Given the description of an element on the screen output the (x, y) to click on. 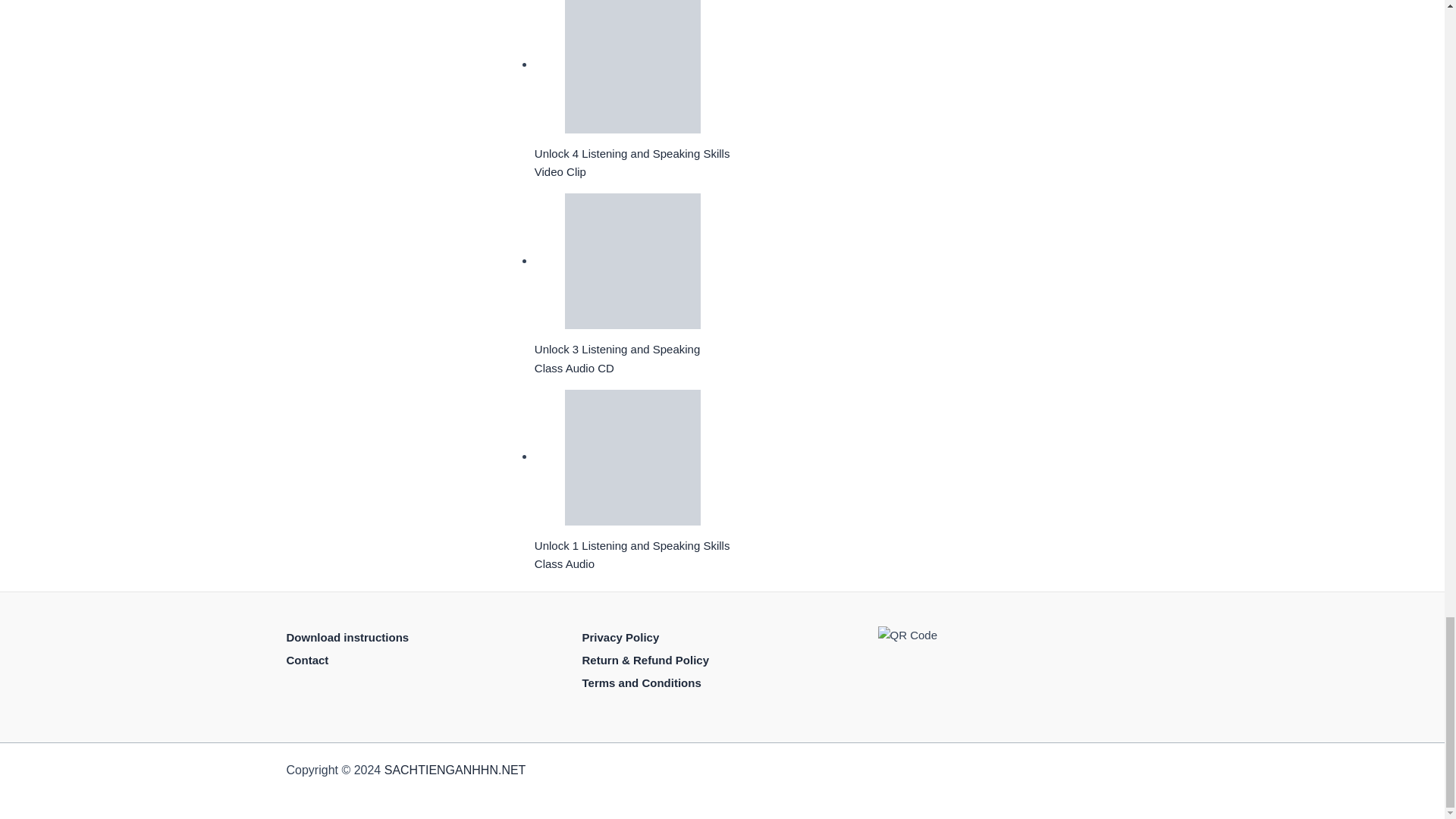
Unlock 3 Listening and Speaking Class Audio CD (632, 261)
Unlock 1 Listening and Speaking Skills Class Audio (632, 457)
Unlock 4 Listening and Speaking Skills Video Clip (632, 66)
